Given the description of an element on the screen output the (x, y) to click on. 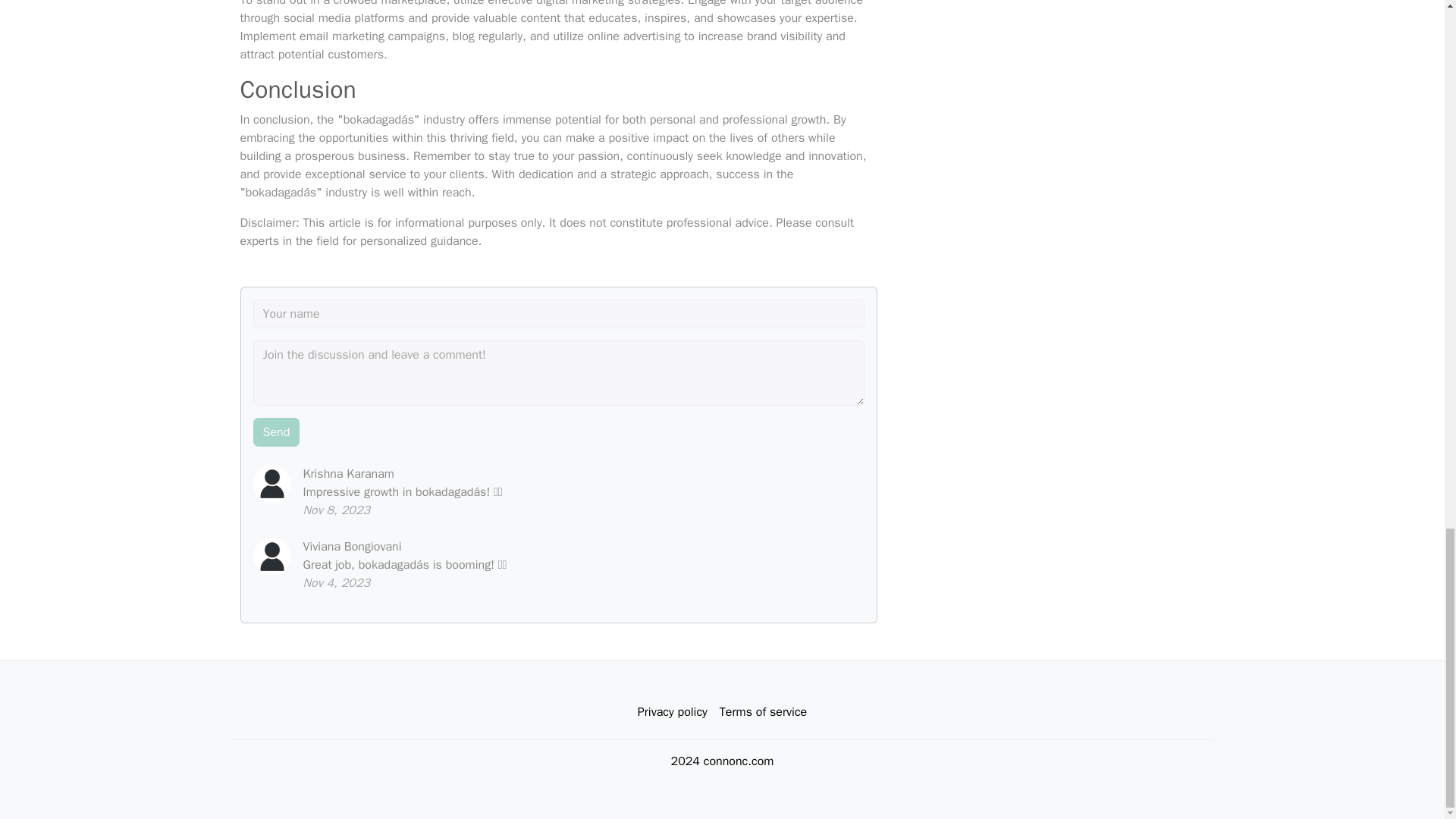
Send (276, 431)
Send (276, 431)
Terms of service (762, 711)
Privacy policy (672, 711)
